Given the description of an element on the screen output the (x, y) to click on. 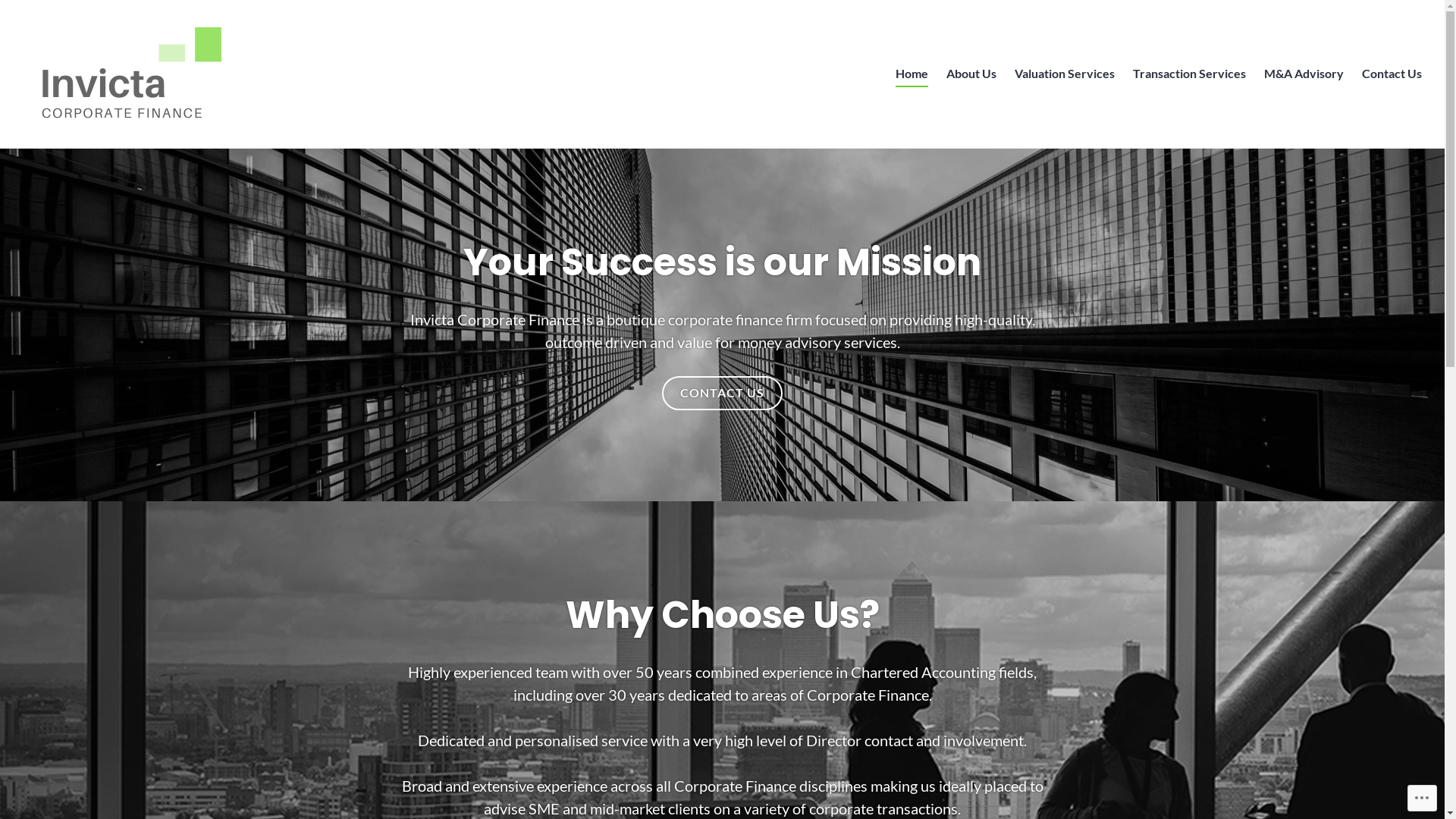
CONTACT US Element type: text (722, 393)
Contact Us Element type: text (1391, 73)
M&A Advisory Element type: text (1303, 73)
Home Element type: text (911, 73)
About Us Element type: text (971, 73)
Transaction Services Element type: text (1188, 73)
Invicta Corporate Finance Element type: text (151, 145)
Valuation Services Element type: text (1064, 73)
